Given the description of an element on the screen output the (x, y) to click on. 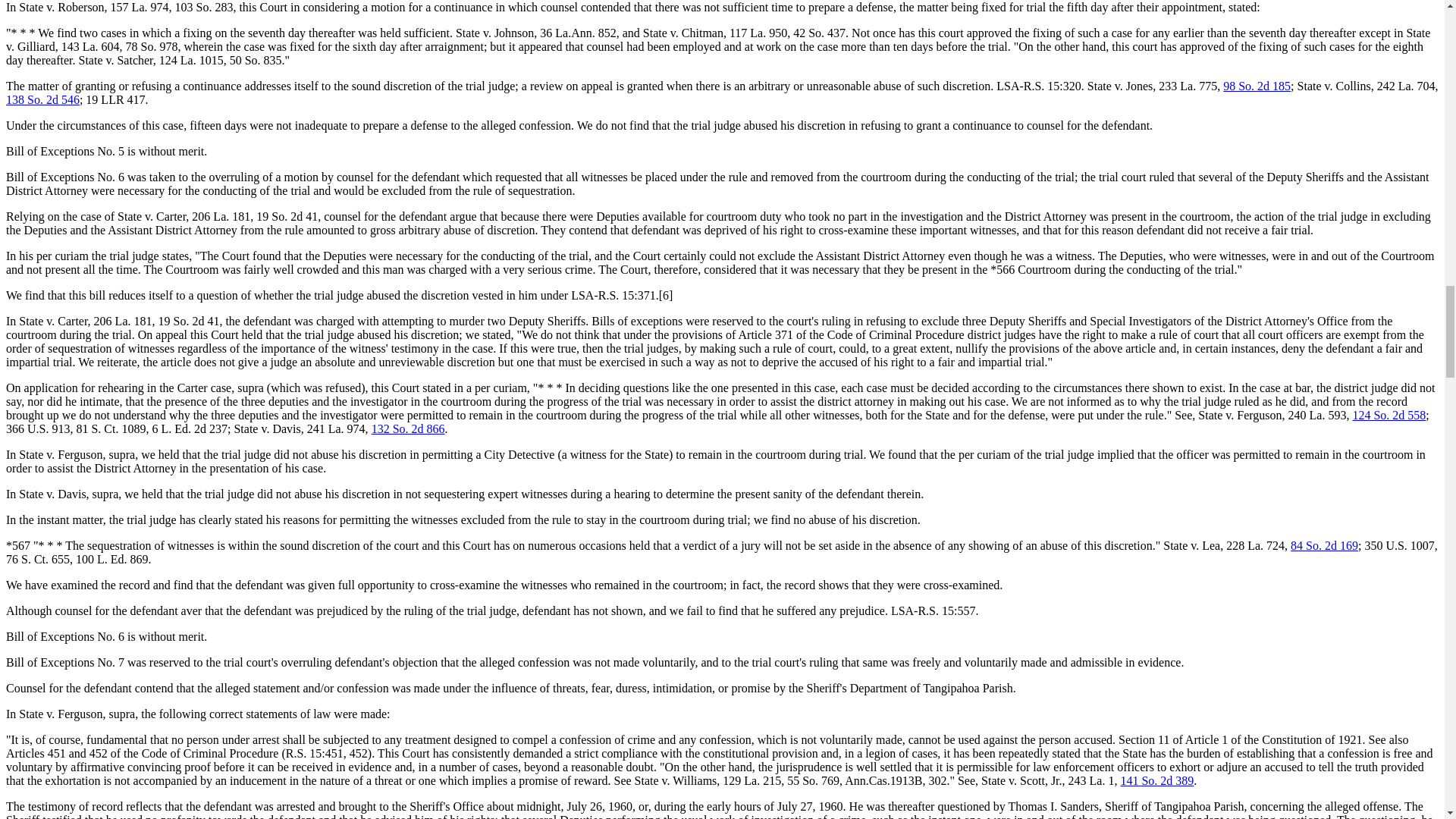
98 So. 2d 185 (1256, 85)
138 So. 2d 546 (42, 99)
